Given the description of an element on the screen output the (x, y) to click on. 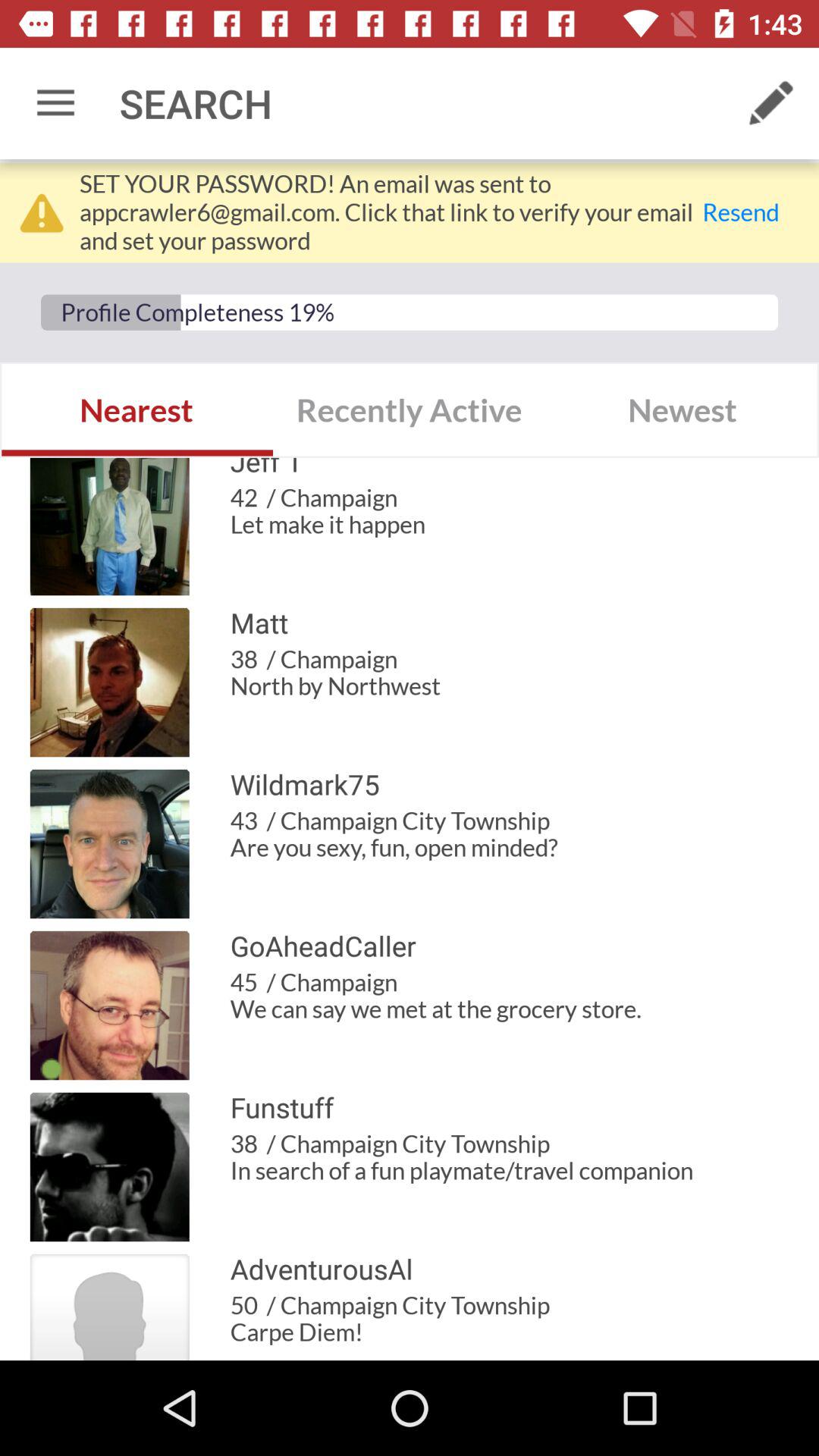
click on tab newest in grey color (682, 410)
select the logo beside adventurousai (109, 1306)
click on the icon at right side of search (771, 103)
select the image which is left to the goaheadcaller (109, 1005)
